Given the description of an element on the screen output the (x, y) to click on. 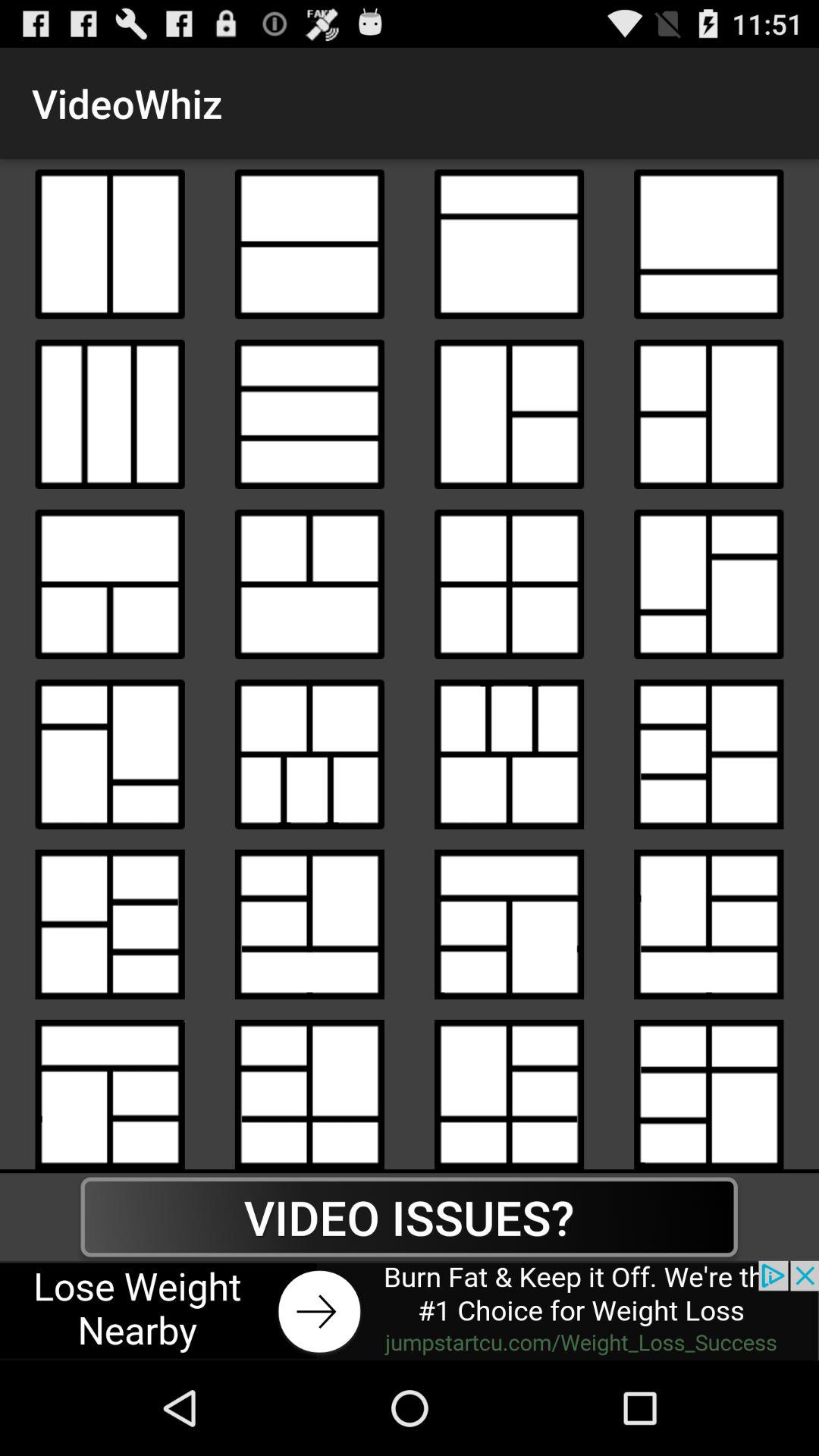
select design (509, 414)
